Given the description of an element on the screen output the (x, y) to click on. 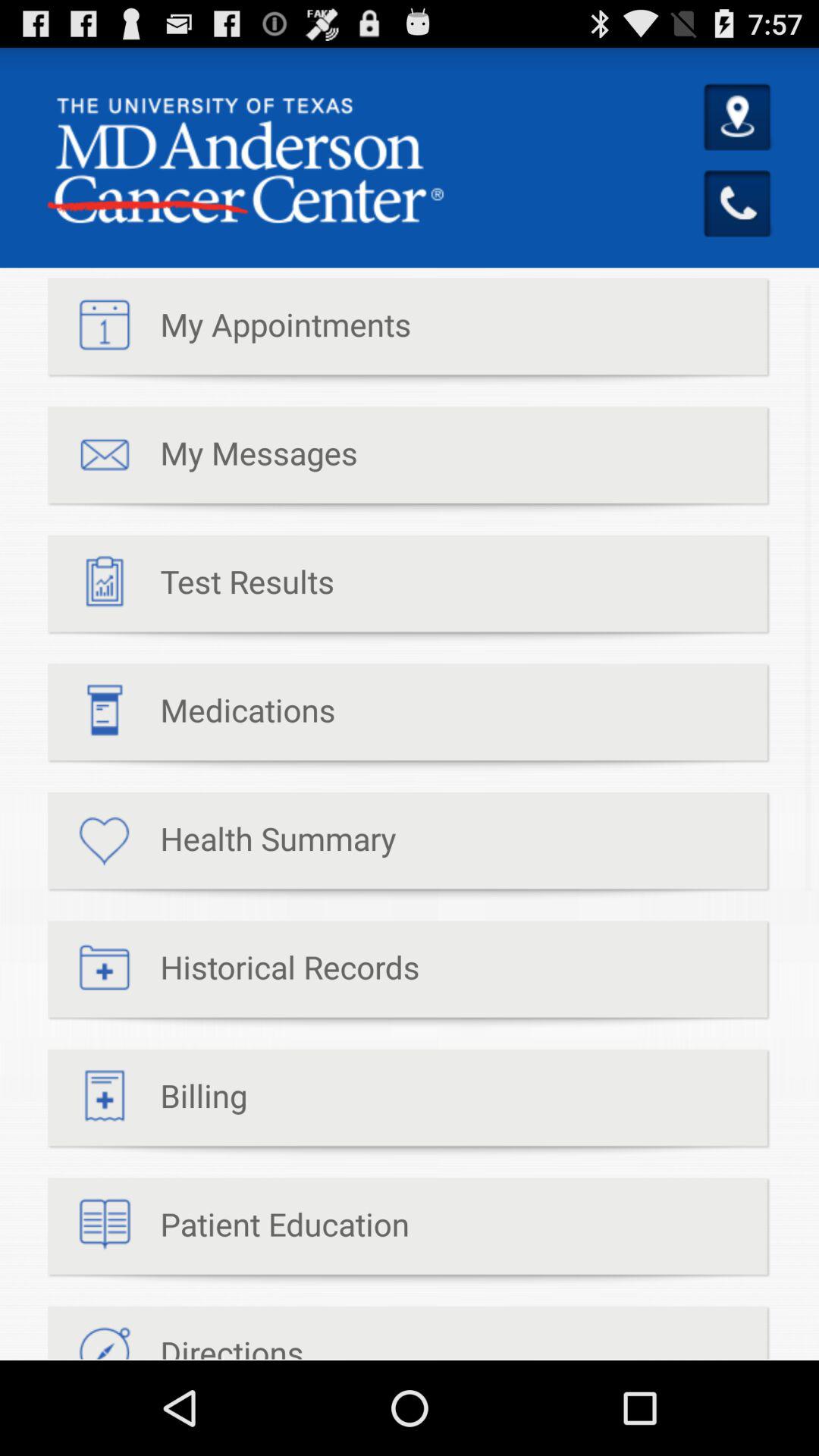
swipe to the medications icon (191, 717)
